Given the description of an element on the screen output the (x, y) to click on. 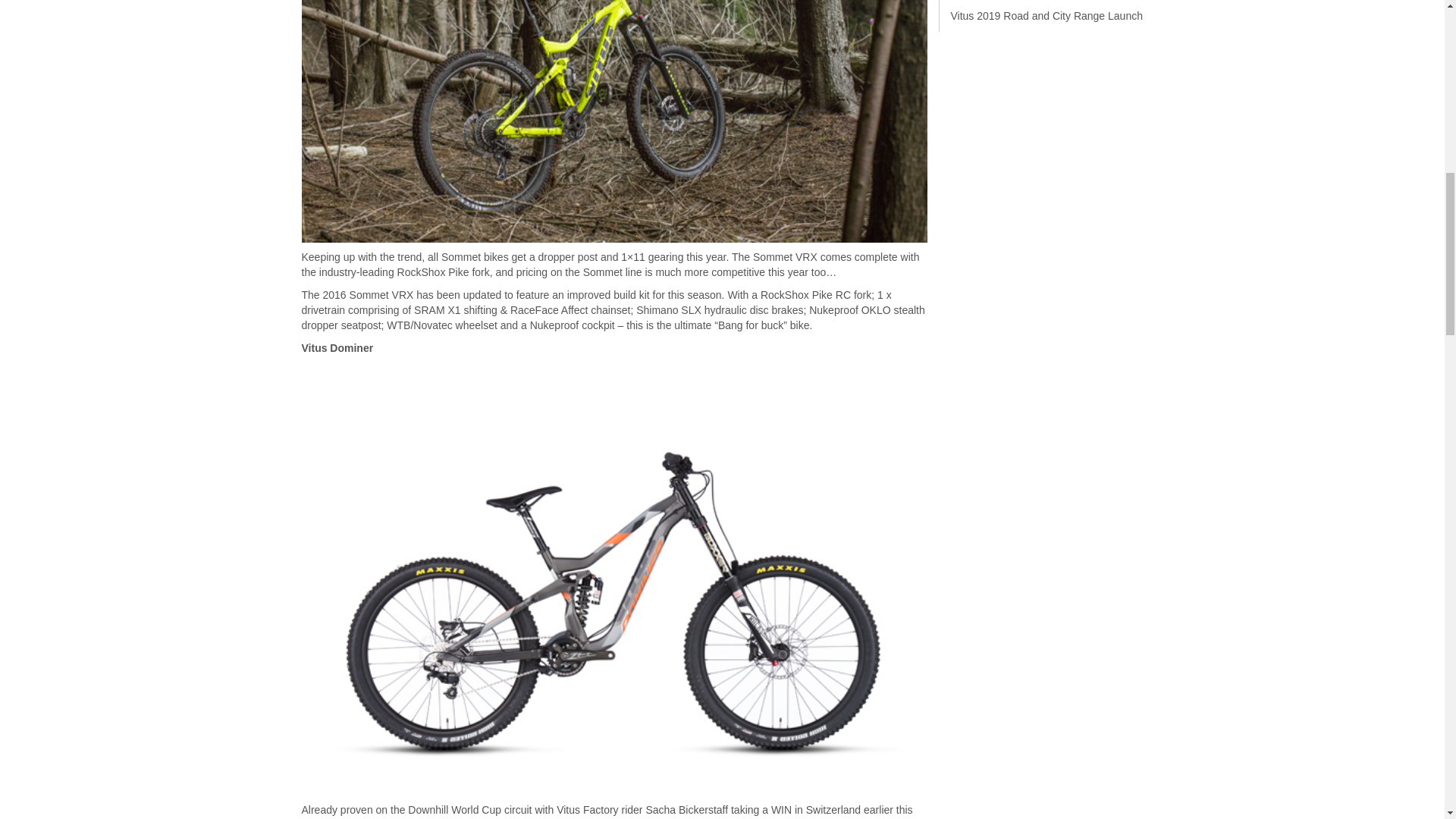
Vitus 2019 Road and City Range Launch (1046, 15)
